Given the description of an element on the screen output the (x, y) to click on. 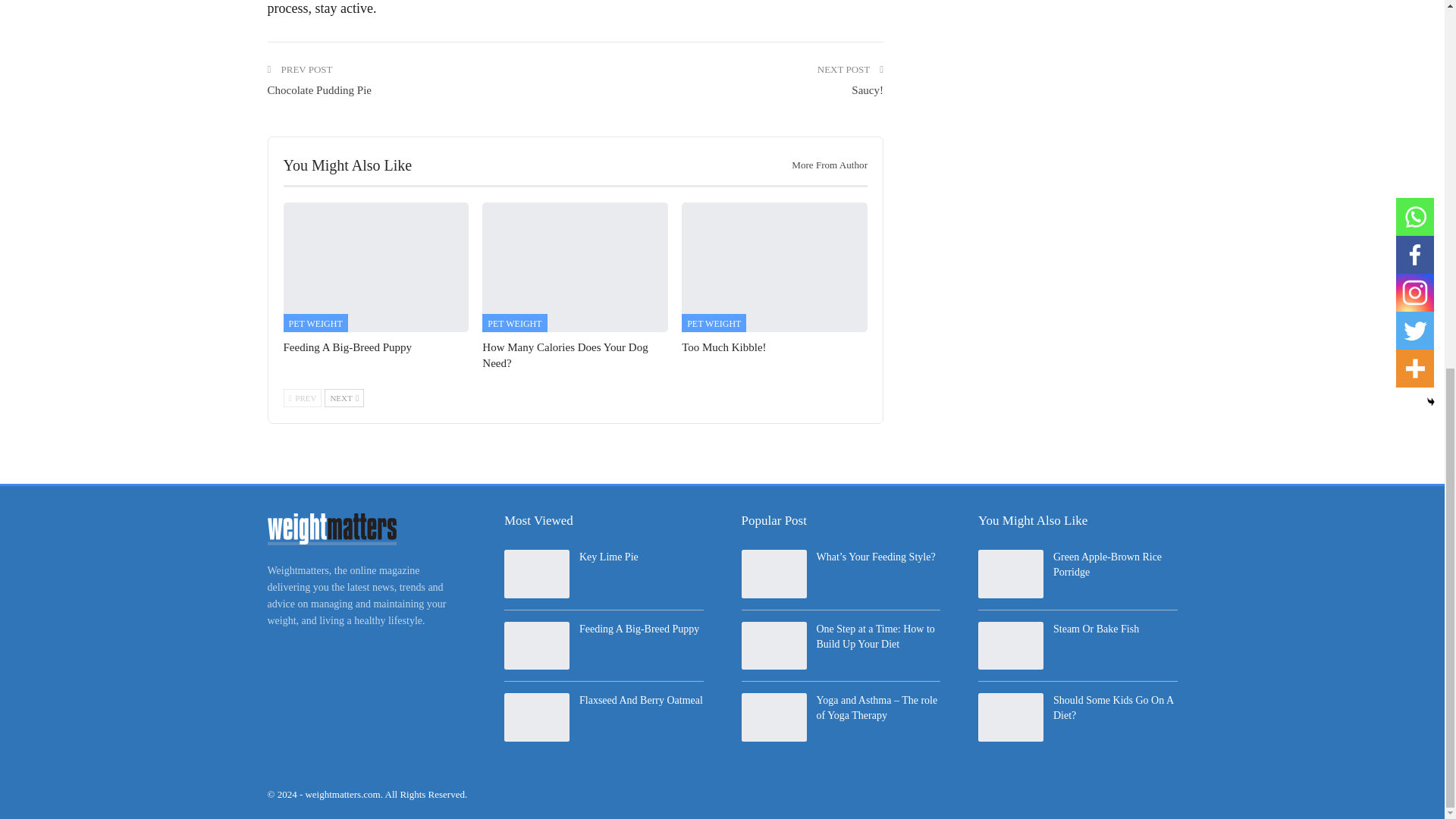
PET WEIGHT (514, 322)
Too Much Kibble! (723, 346)
Feeding A Big-Breed Puppy (347, 346)
Chocolate Pudding Pie (318, 90)
Too Much Kibble! (774, 267)
PET WEIGHT (315, 322)
How Many Calories Does Your Dog Need? (564, 355)
Saucy! (867, 90)
How Many Calories Does Your Dog Need? (574, 267)
Feeding A Big-Breed Puppy (375, 267)
How Many Calories Does Your Dog Need? (564, 355)
More From Author (822, 165)
Feeding A Big-Breed Puppy (347, 346)
Too Much Kibble! (723, 346)
You Might Also Like (347, 165)
